Given the description of an element on the screen output the (x, y) to click on. 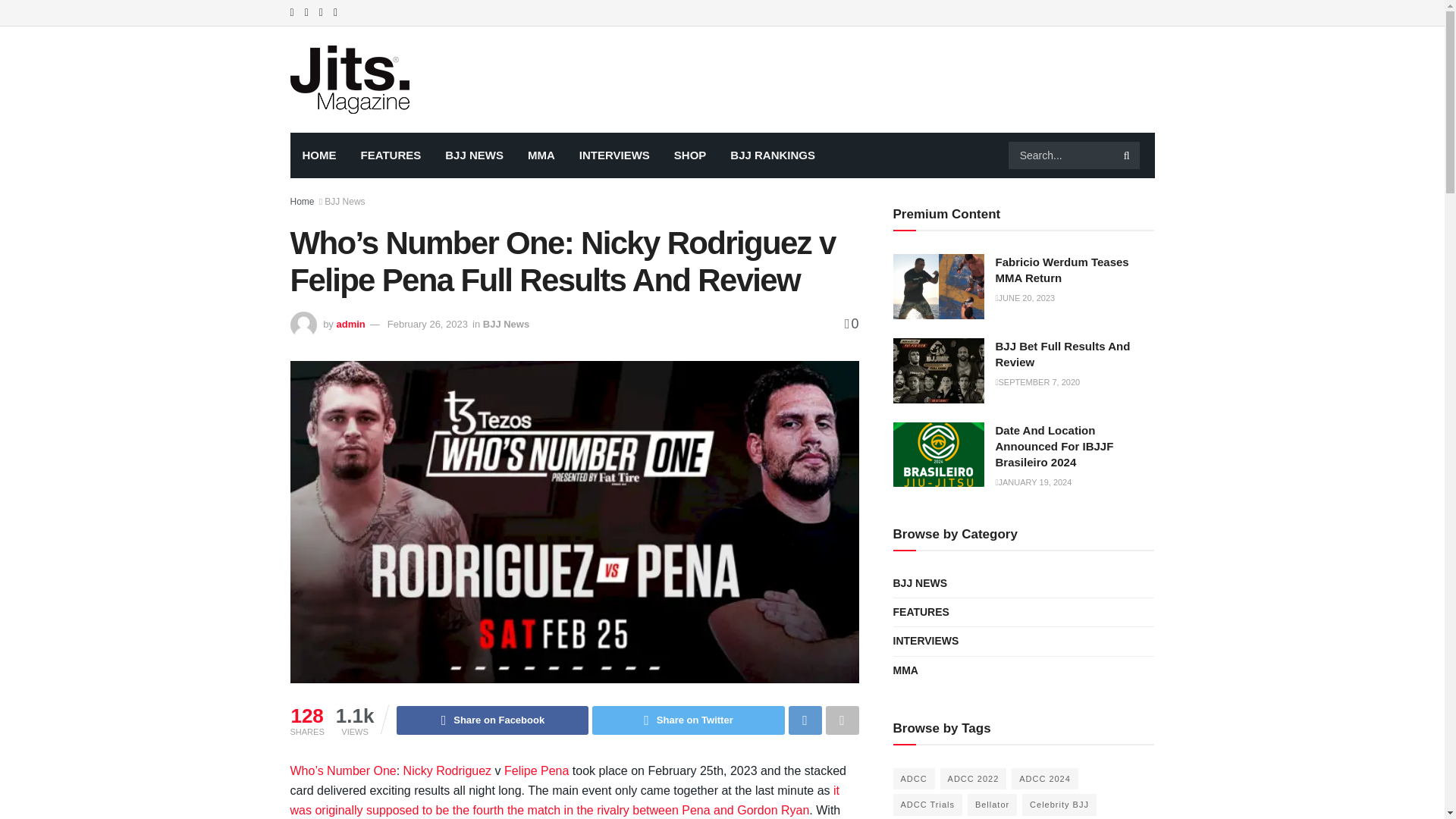
HOME (318, 155)
BJJ News (506, 324)
admin (350, 324)
0 (851, 323)
FEATURES (391, 155)
Home (301, 201)
MMA (541, 155)
BJJ RANKINGS (772, 155)
BJJ News (344, 201)
Share on Facebook (492, 719)
BJJ NEWS (473, 155)
Share on Twitter (688, 719)
INTERVIEWS (614, 155)
SHOP (690, 155)
February 26, 2023 (427, 324)
